Given the description of an element on the screen output the (x, y) to click on. 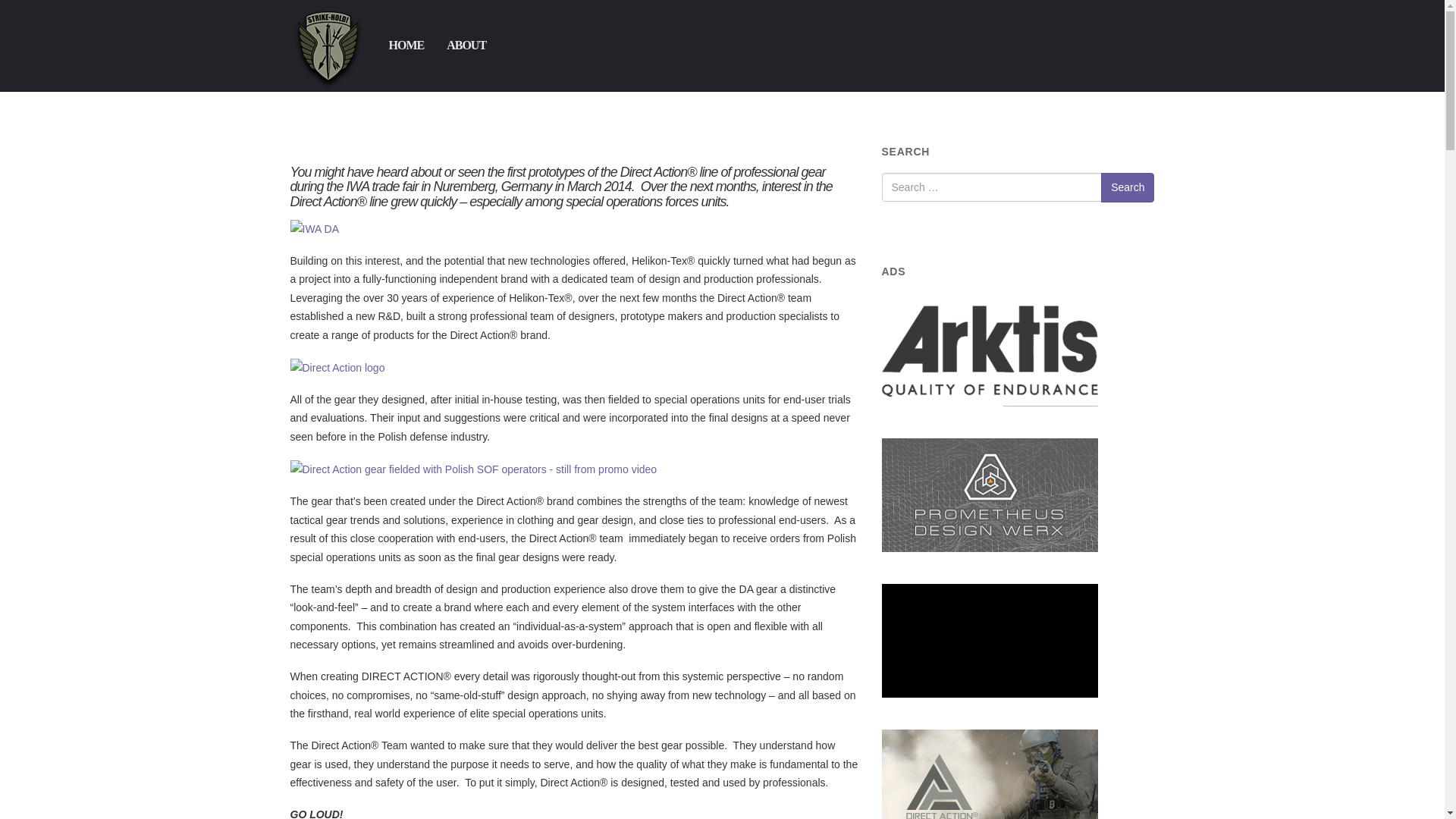
Search (1127, 187)
Search (1127, 187)
Strikehold.net (328, 45)
